Given the description of an element on the screen output the (x, y) to click on. 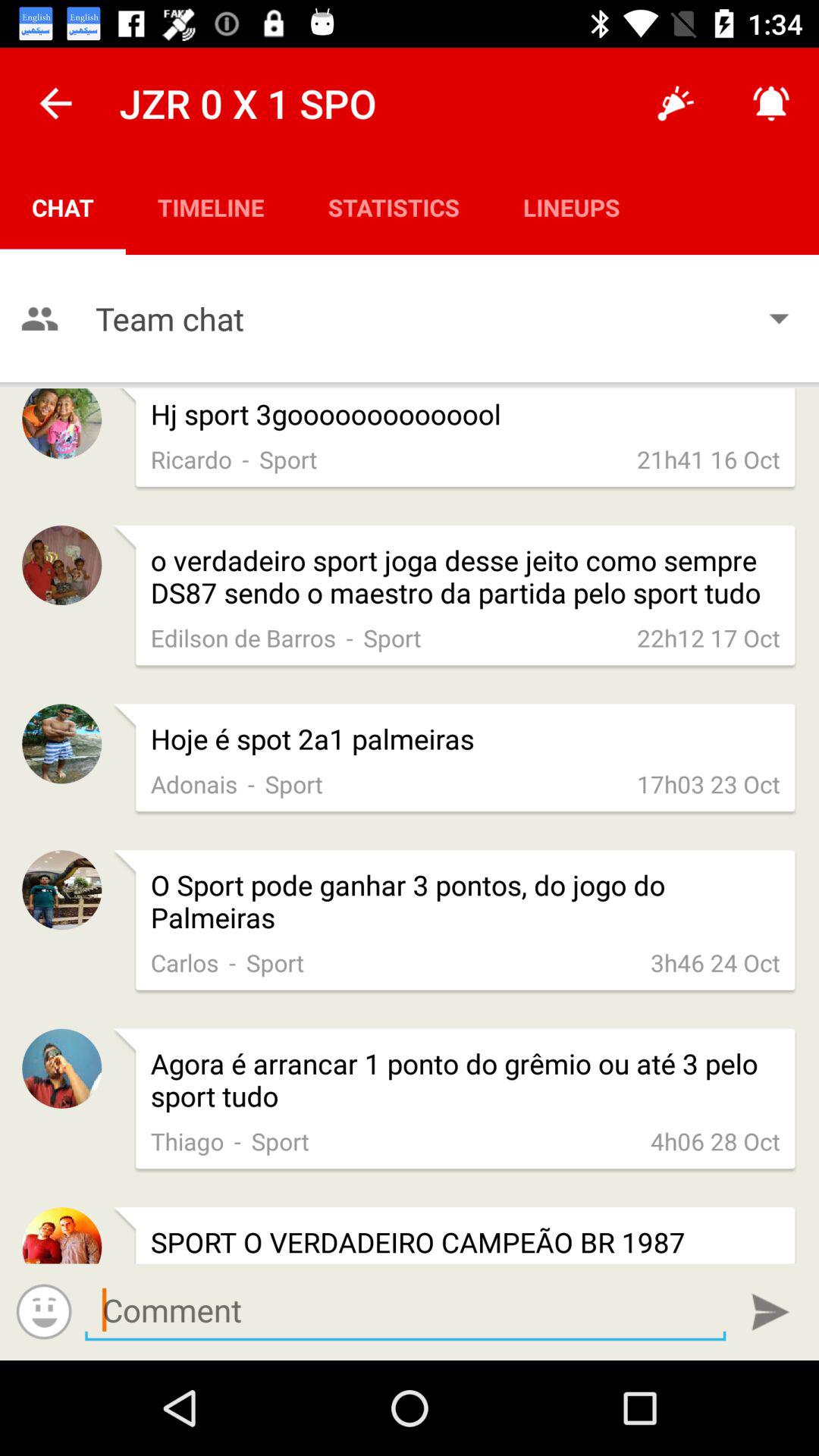
open the app below o verdadeiro sport (708, 637)
